Given the description of an element on the screen output the (x, y) to click on. 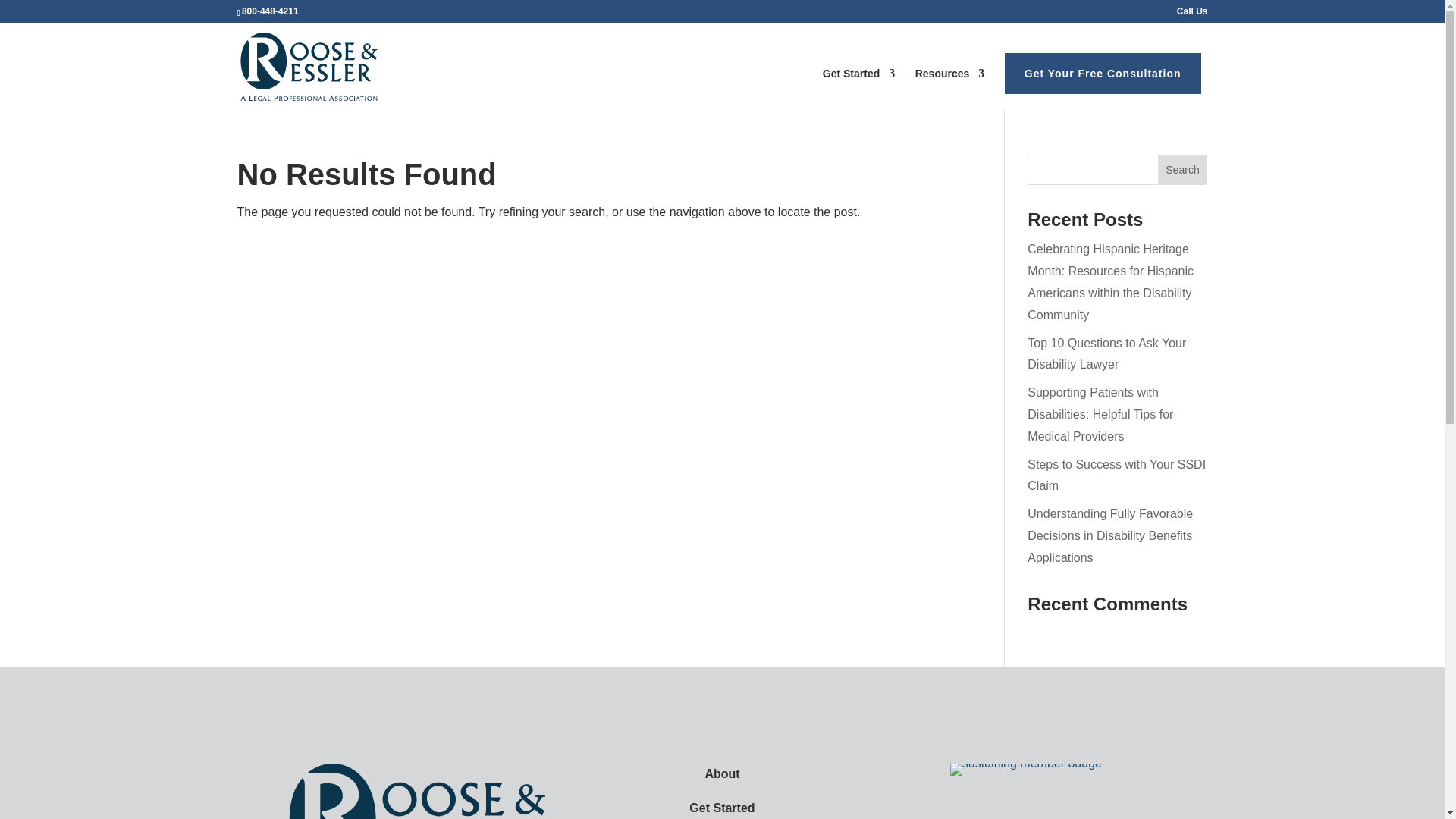
Get Started (721, 807)
Member-Badge-Small-4-Sustaining-Member-1 (1026, 769)
Call Us (1192, 14)
Search (1182, 169)
Search (1182, 169)
Get Started (858, 88)
Top 10 Questions to Ask Your Disability Lawyer (1106, 353)
Steps to Success with Your SSDI Claim (1116, 475)
